Given the description of an element on the screen output the (x, y) to click on. 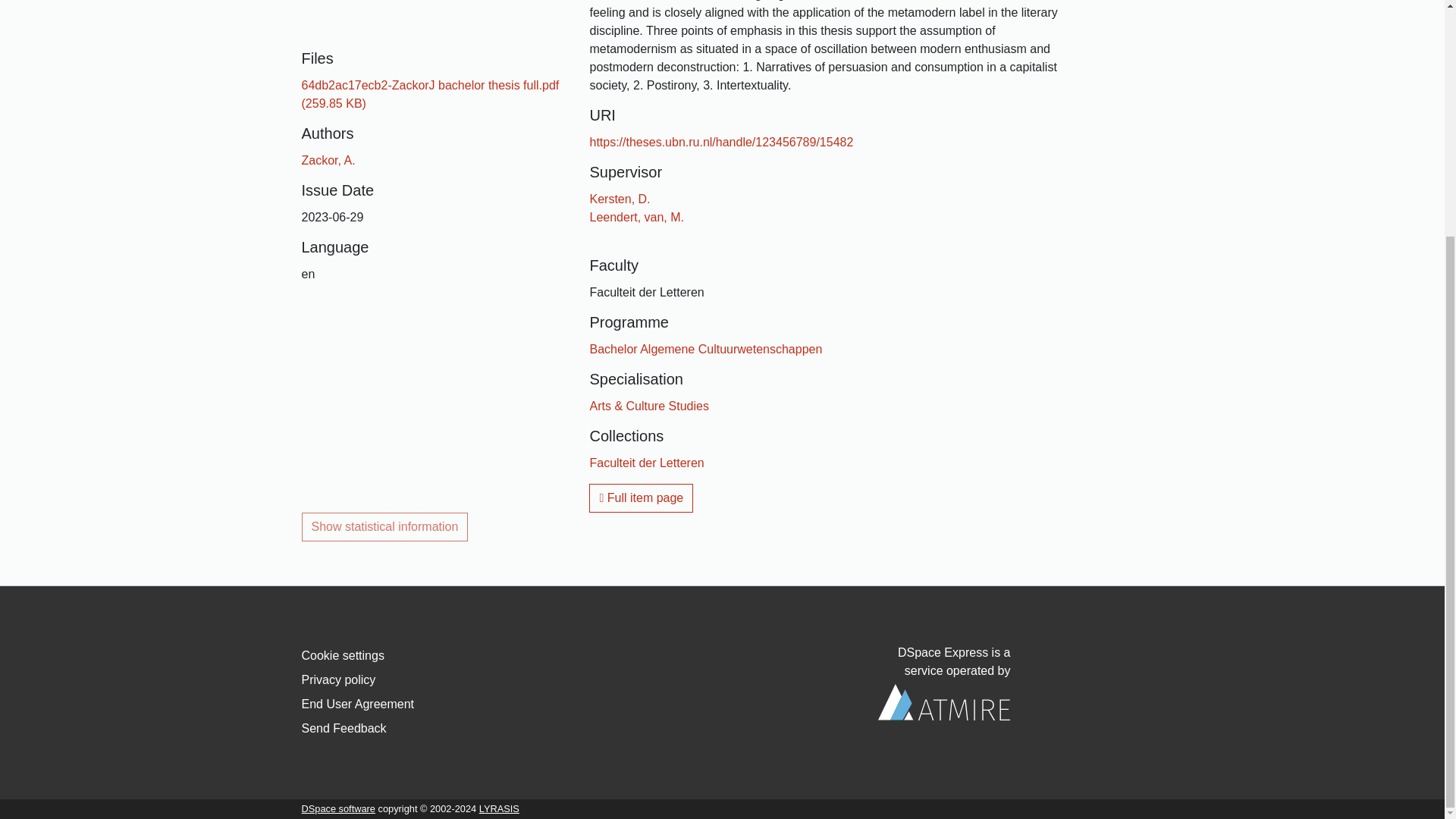
Faculteit der Letteren (646, 462)
DSpace Express is a service operated by (943, 683)
DSpace software (338, 808)
Full item page (641, 498)
Zackor, A. (328, 160)
Cookie settings (342, 655)
LYRASIS (499, 808)
Send Feedback (344, 727)
Kersten, D. (619, 198)
Bachelor Algemene Cultuurwetenschappen (705, 349)
Show statistical information (384, 526)
End User Agreement (357, 703)
Leendert, van, M. (636, 216)
Privacy policy (338, 679)
